Given the description of an element on the screen output the (x, y) to click on. 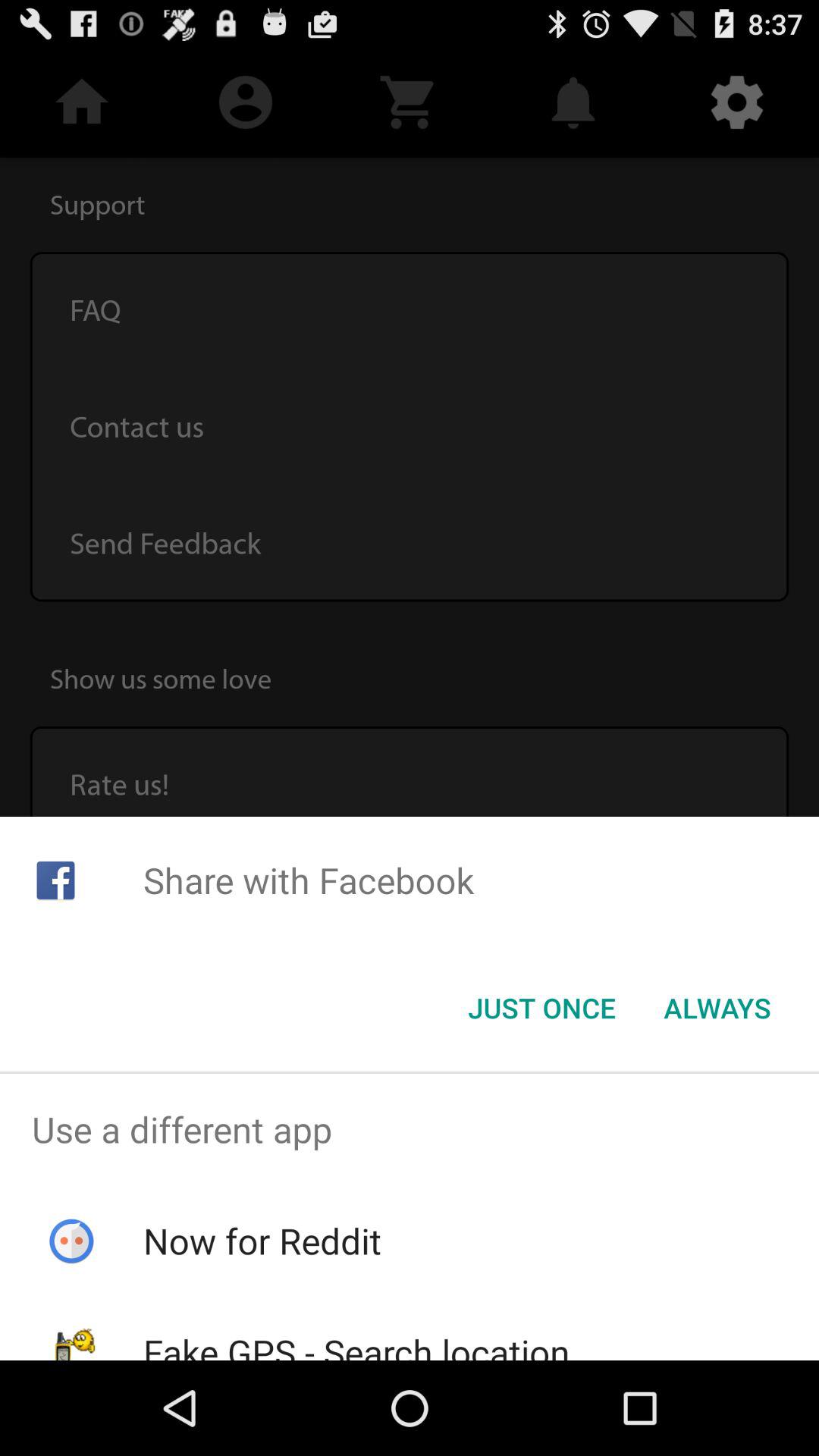
choose the icon above the now for reddit item (409, 1129)
